Given the description of an element on the screen output the (x, y) to click on. 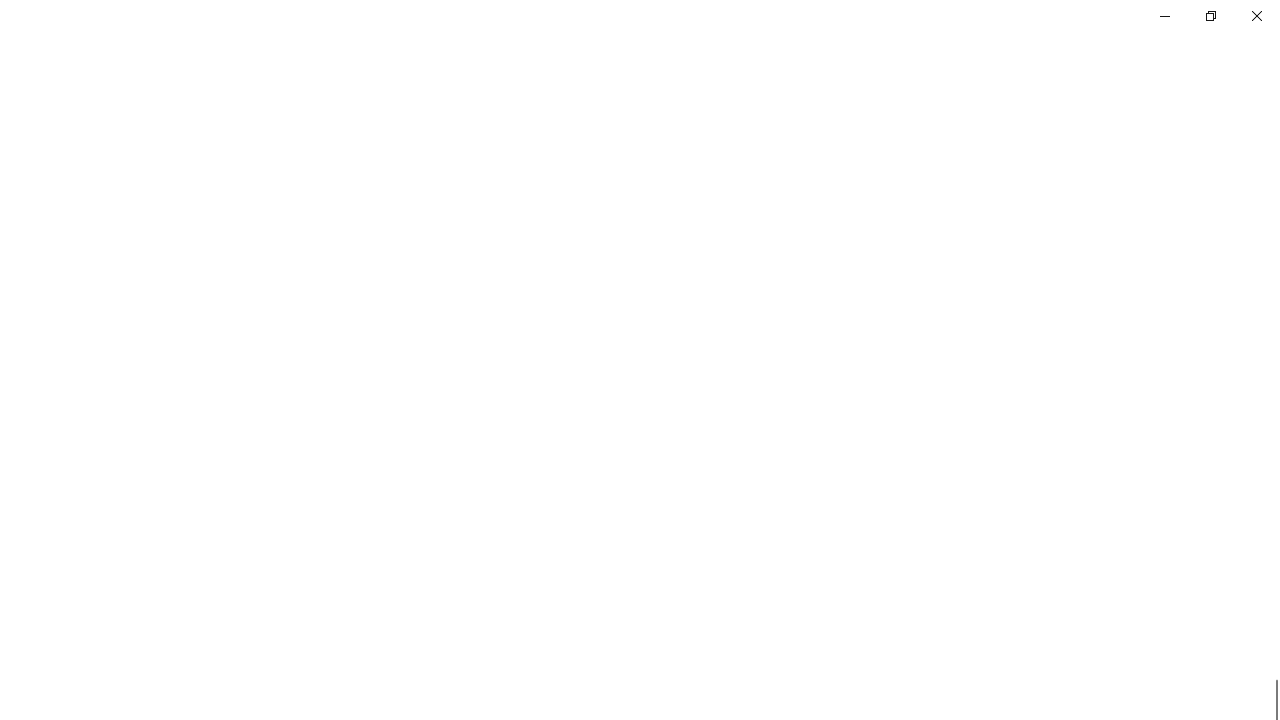
Minimize Settings (1164, 15)
Restore Settings (1210, 15)
Close Settings (1256, 15)
